Given the description of an element on the screen output the (x, y) to click on. 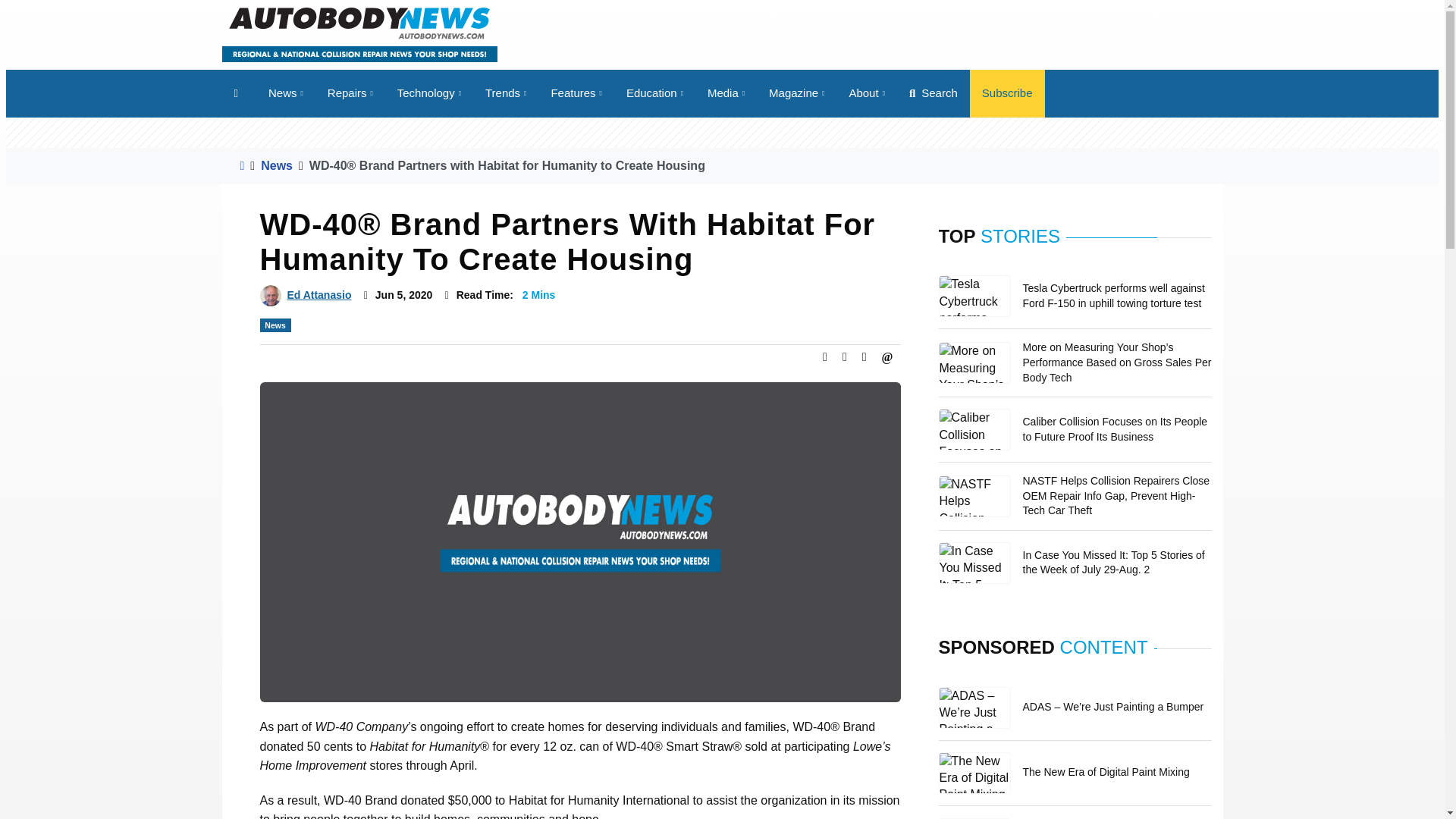
News (285, 93)
Autobody News (358, 33)
Trends (505, 93)
Repairs (350, 93)
Features (576, 93)
Technology (429, 93)
